Given the description of an element on the screen output the (x, y) to click on. 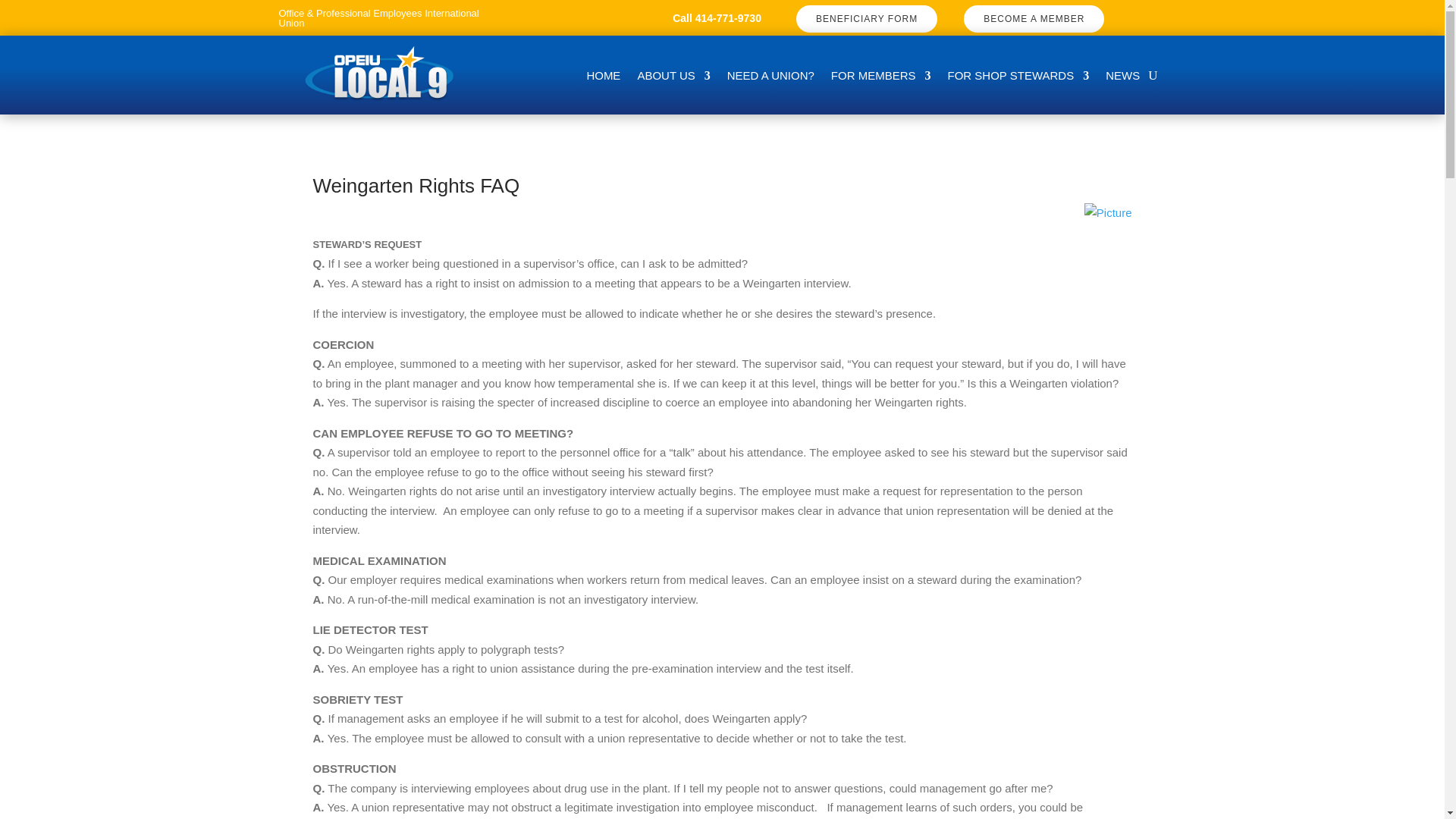
local9-logo (379, 73)
FOR SHOP STEWARDS (1018, 78)
BECOME A MEMBER (1033, 18)
FOR MEMBERS (881, 78)
ABOUT US (673, 78)
HOME (603, 78)
NEWS (1122, 78)
BENEFICIARY FORM (866, 18)
NEED A UNION? (769, 78)
